Given the description of an element on the screen output the (x, y) to click on. 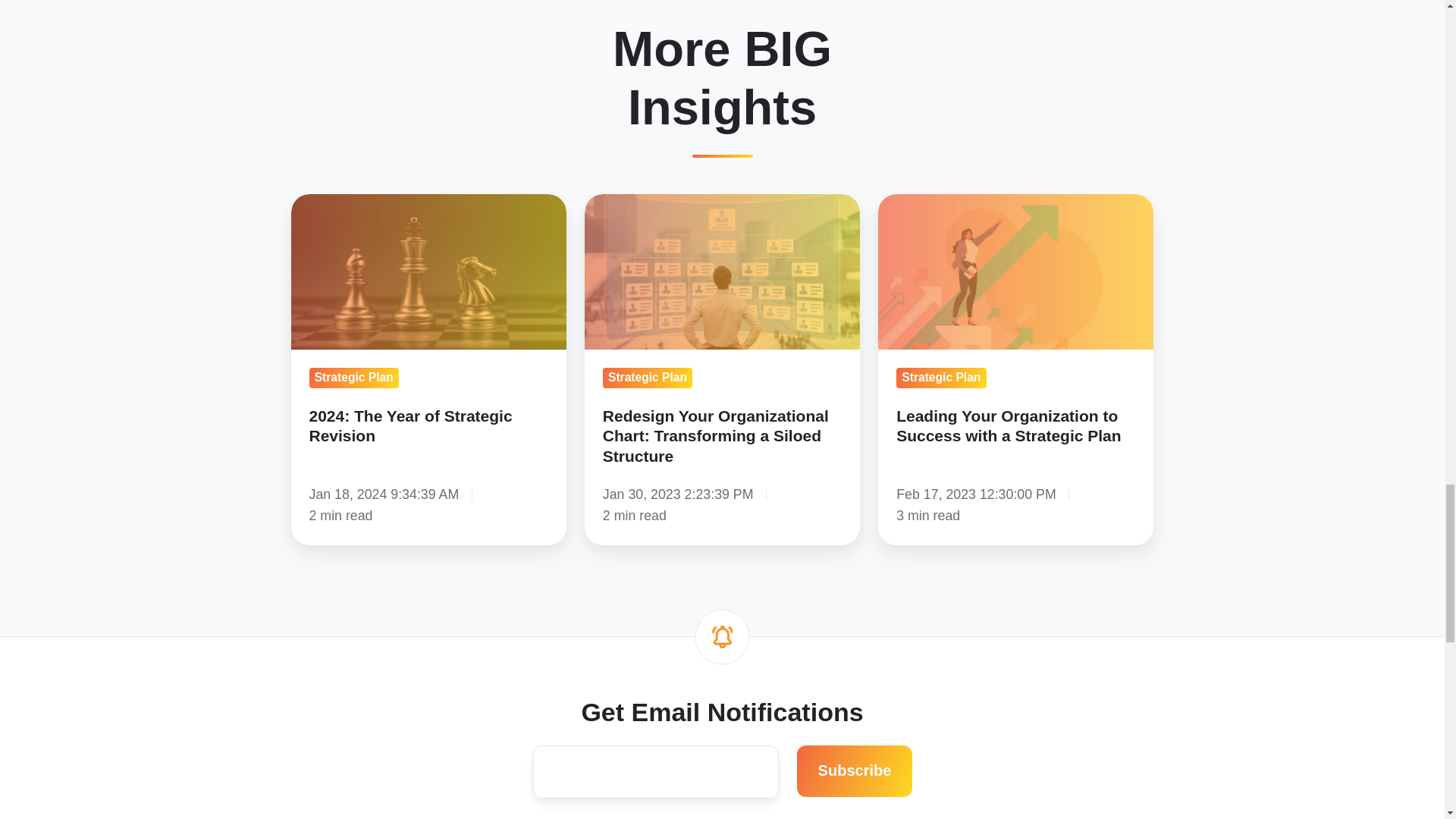
Strategic Plan (940, 377)
Subscribe (853, 770)
Strategic Plan (353, 377)
Subscribe (853, 770)
Strategic Plan (647, 377)
